Given the description of an element on the screen output the (x, y) to click on. 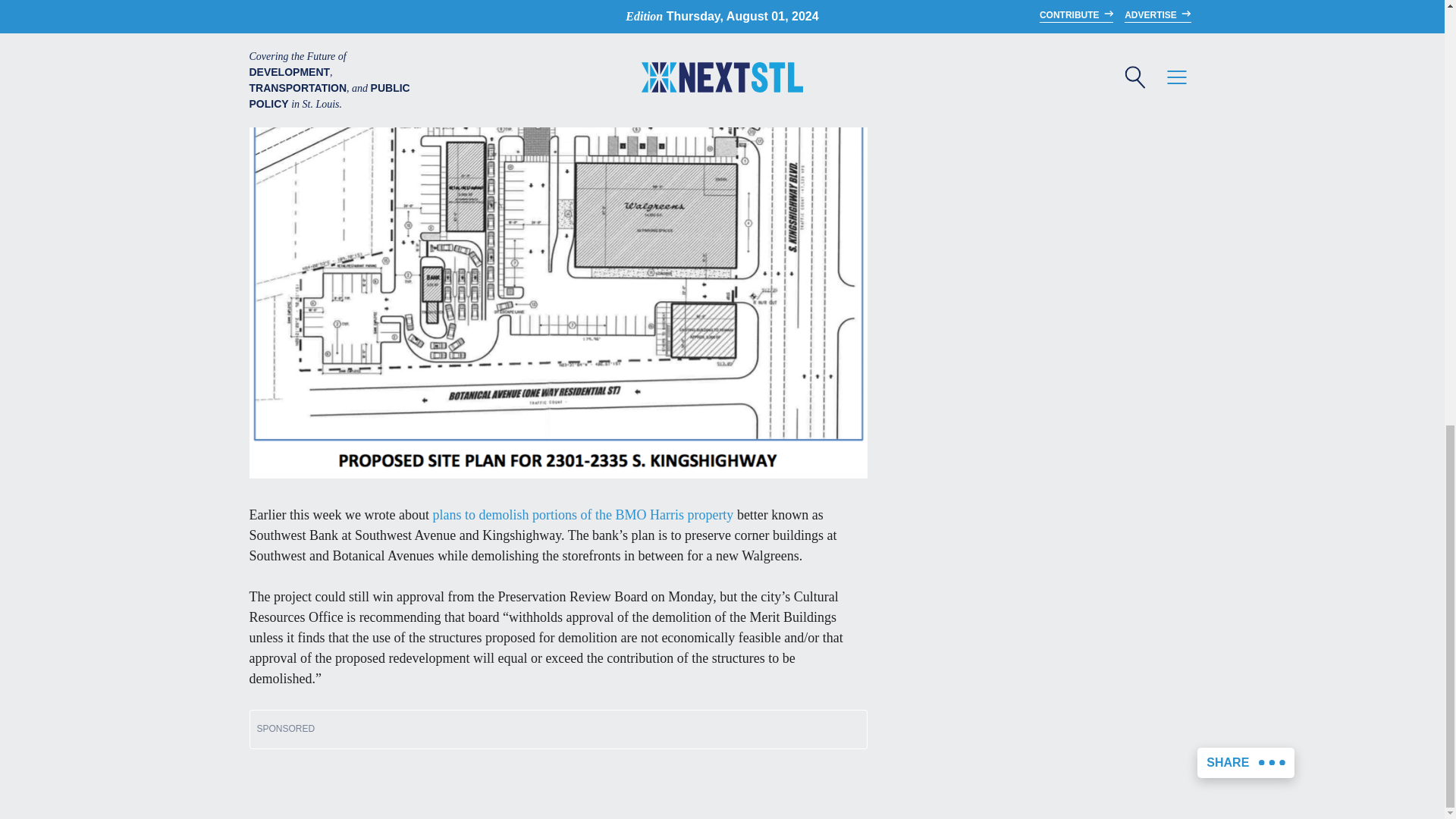
plans to demolish portions of the BMO Harris property (582, 514)
